Given the description of an element on the screen output the (x, y) to click on. 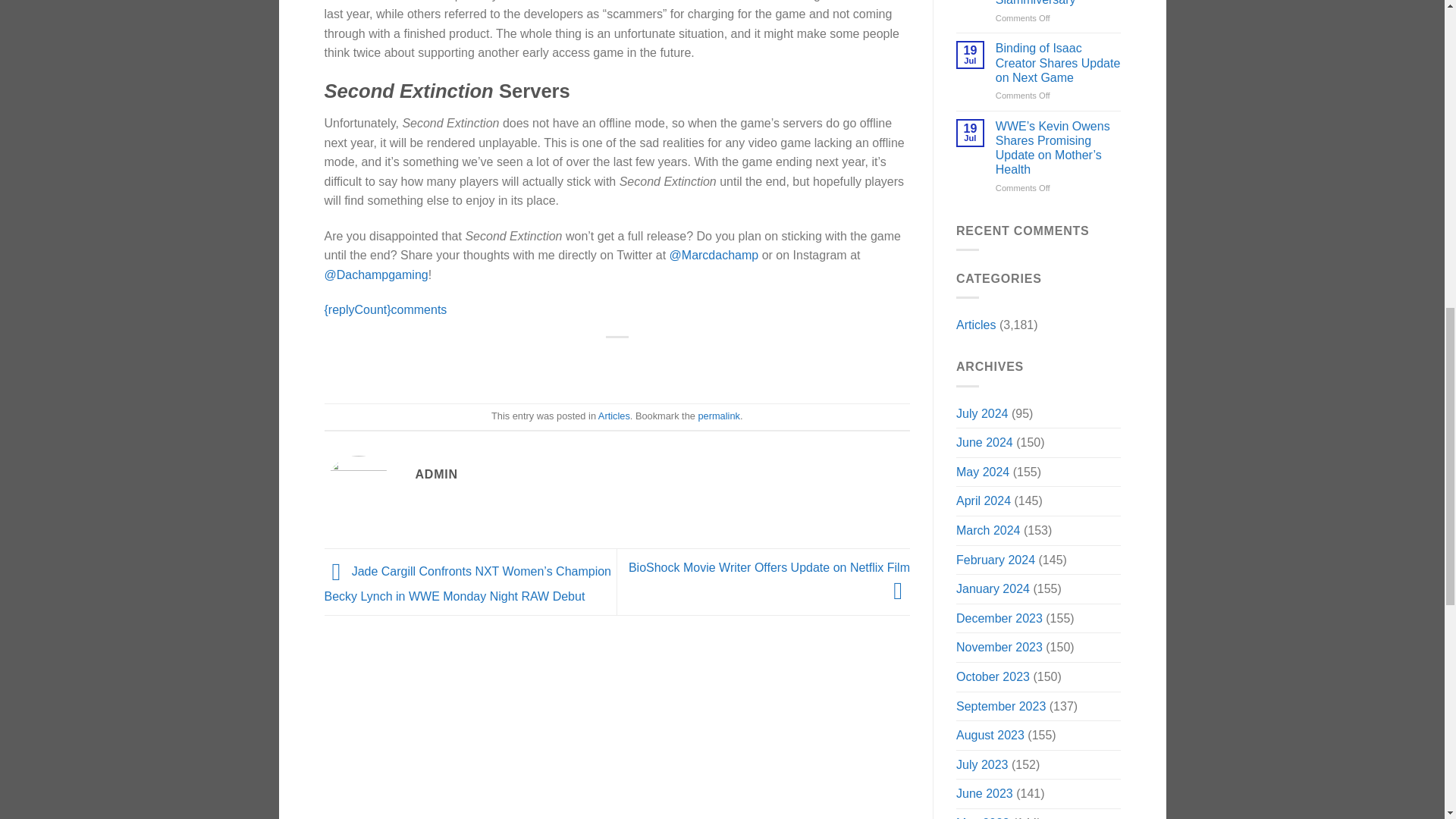
Avalanche Studios (374, 0)
